Given the description of an element on the screen output the (x, y) to click on. 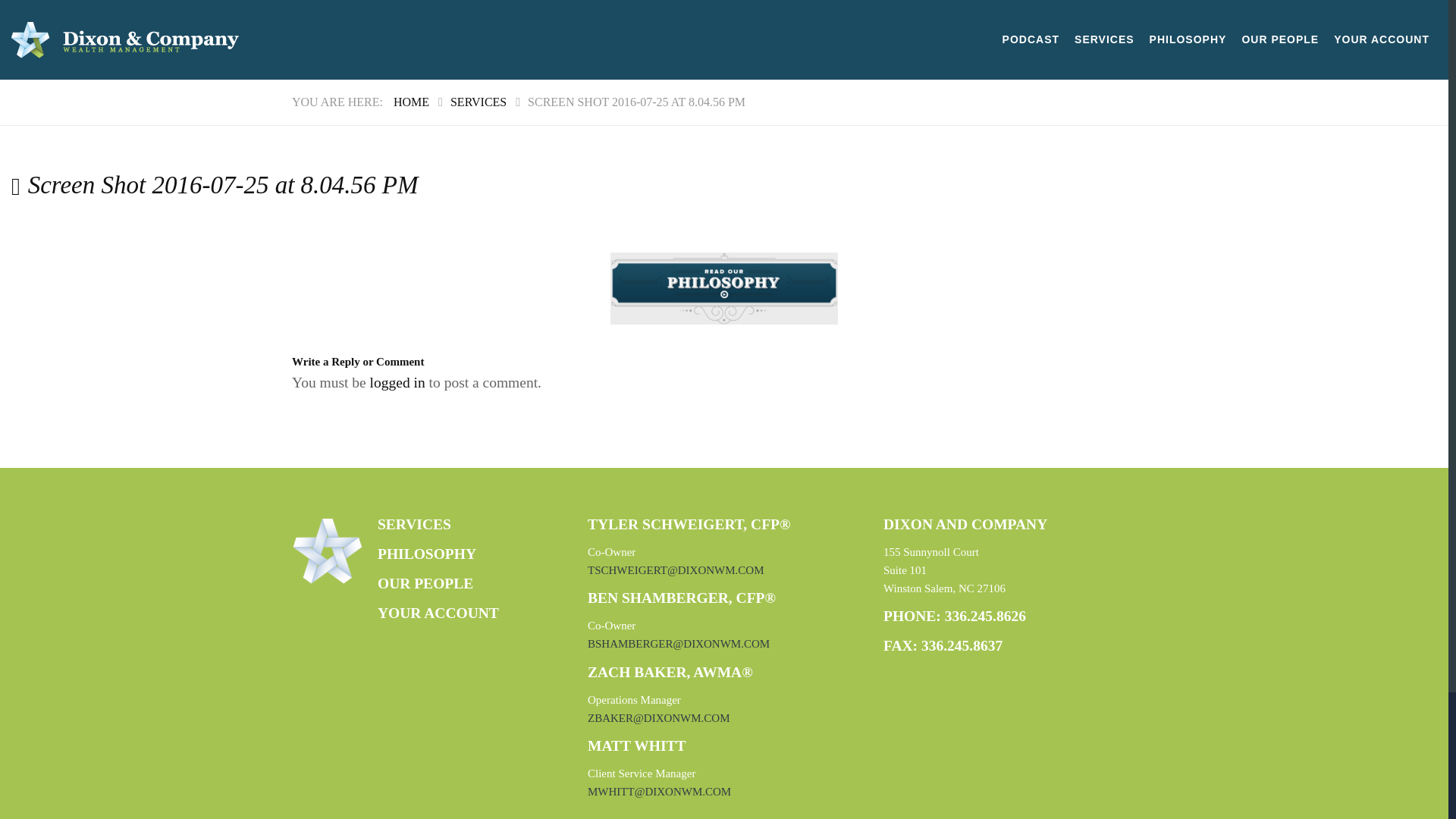
logged in (397, 382)
SERVICES (477, 101)
PHILOSOPHY (1188, 39)
HOME (411, 101)
OUR PEOPLE (425, 583)
SERVICES (414, 524)
OUR PEOPLE (1280, 39)
PHILOSOPHY (426, 553)
YOUR ACCOUNT (438, 612)
YOUR ACCOUNT (1381, 39)
